Given the description of an element on the screen output the (x, y) to click on. 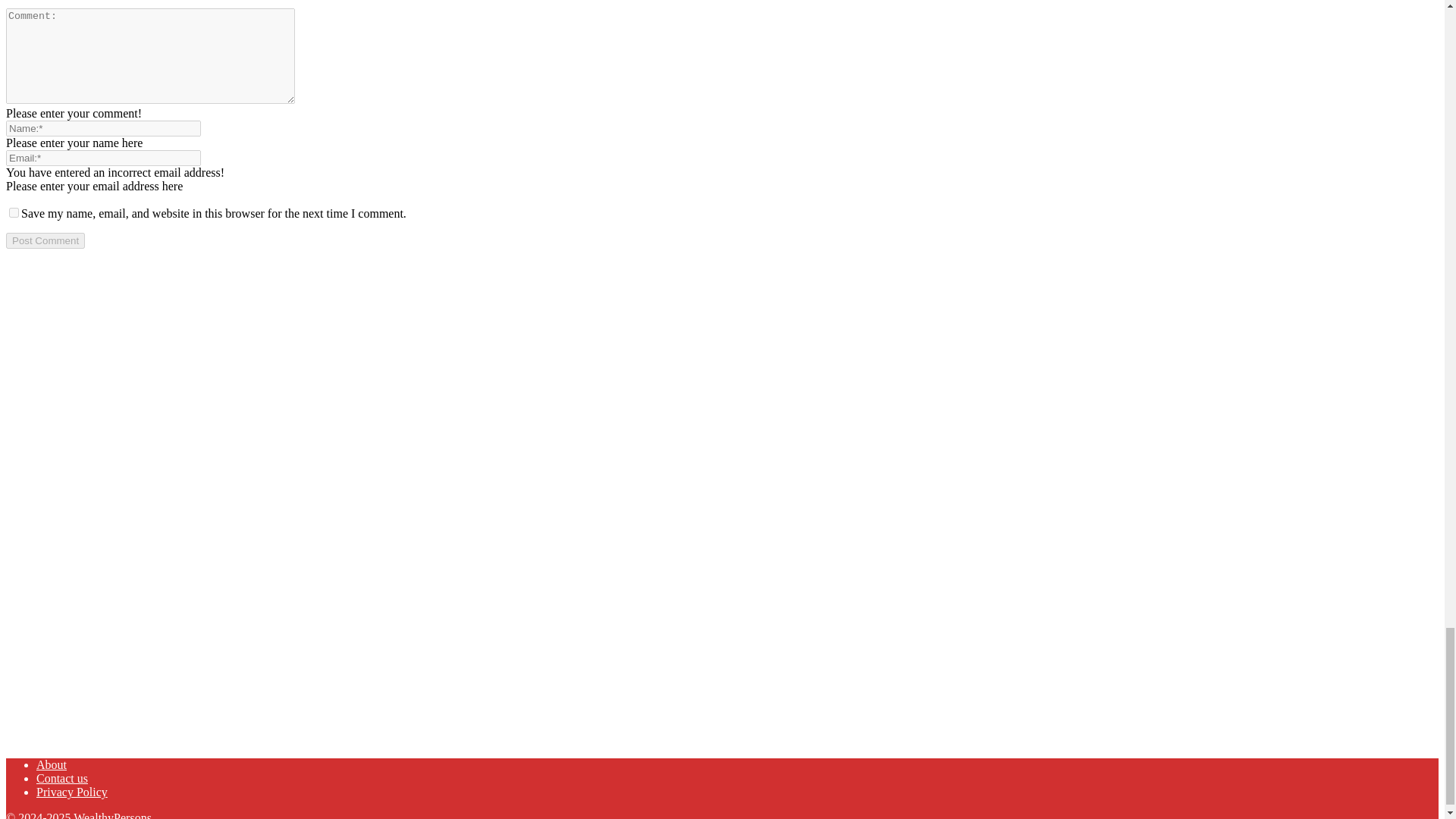
Contact us (61, 778)
yes (13, 212)
Privacy Policy (71, 791)
About (51, 764)
Post Comment (44, 240)
Post Comment (44, 240)
